Given the description of an element on the screen output the (x, y) to click on. 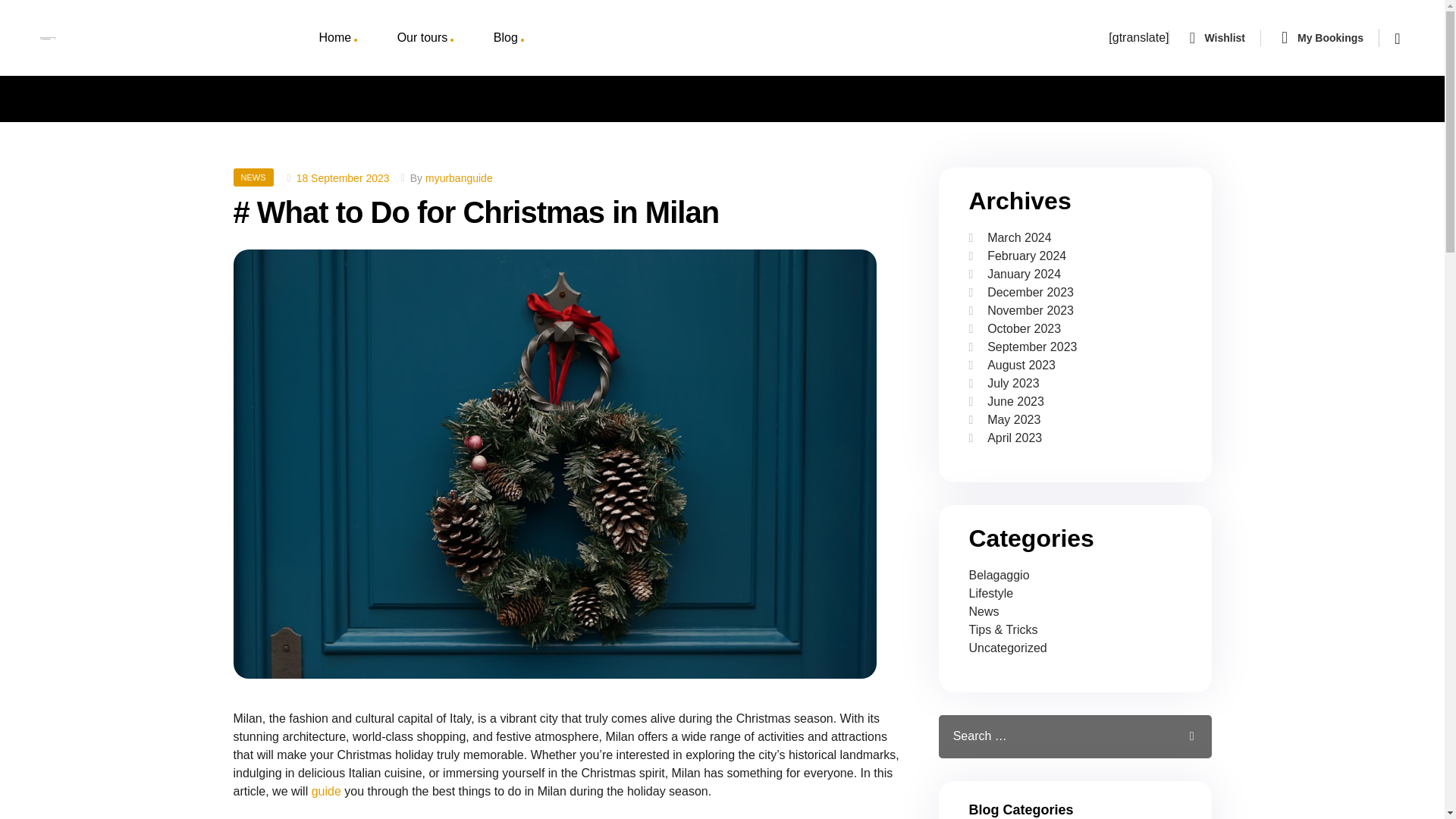
March 2024 (1019, 237)
Search (1181, 735)
18 September 2023 (343, 177)
February 2024 (1026, 255)
NEWS (252, 177)
Home (337, 37)
Search (1181, 735)
January 2024 (1024, 273)
guide (325, 790)
December 2023 (1030, 291)
My Bookings (1329, 37)
Blog (508, 37)
myurbanguide (459, 177)
November 2023 (1030, 309)
Our tours (424, 37)
